Given the description of an element on the screen output the (x, y) to click on. 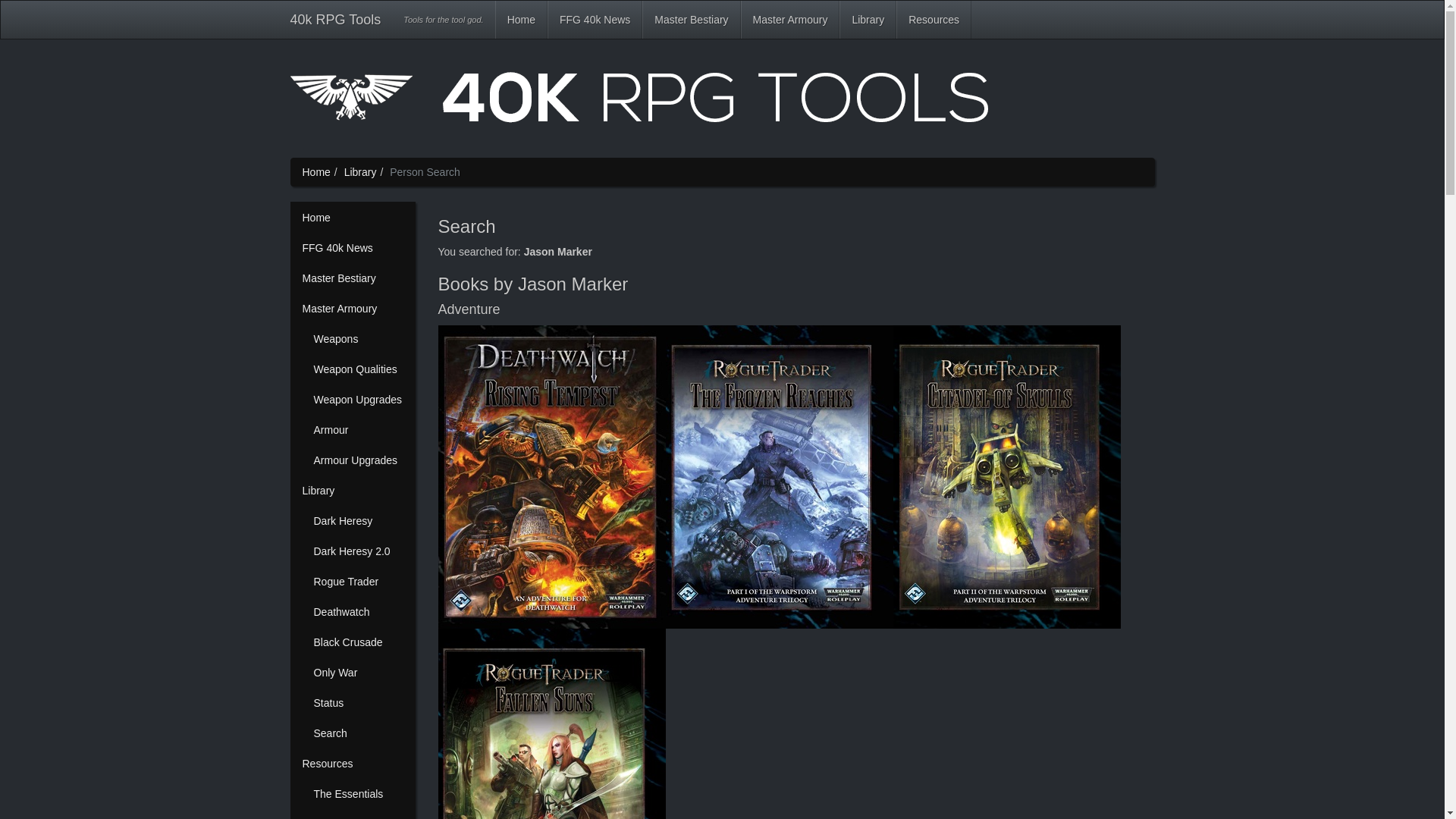
40krpgtools.com logo Element type: hover (638, 102)
Deathwatch - Rising Tempest Element type: hover (551, 476)
Status Element type: text (357, 702)
Armour Element type: text (357, 429)
Master Armoury Element type: text (790, 19)
Resources Element type: text (352, 763)
The Essentials Element type: text (357, 793)
40k RPG Tools Element type: text (335, 19)
Library Element type: text (867, 19)
Master Bestiary Element type: text (691, 19)
Weapon Qualities Element type: text (357, 369)
Master Bestiary Element type: text (352, 278)
Resources Element type: text (933, 19)
Rogue Trader - Warpstorm 1:  The Frozen Reaches Element type: hover (779, 476)
Deathwatch Element type: text (357, 611)
Rogue Trader - Warpstorm 2:  Citadel of Skulls Element type: hover (1006, 476)
Home Element type: hover (721, 102)
FFG 40k News Element type: text (352, 247)
Library Element type: text (352, 490)
Weapons Element type: text (357, 338)
Dark Heresy 2.0 Element type: text (357, 551)
Home Element type: text (521, 19)
Search Element type: text (357, 733)
Library Element type: text (360, 172)
Master Armoury Element type: text (352, 308)
Home Element type: text (315, 172)
Rogue Trader Element type: text (357, 581)
Only War Element type: text (357, 672)
FFG 40k News Element type: text (594, 19)
Weapon Upgrades Element type: text (357, 399)
Dark Heresy Element type: text (357, 520)
Black Crusade Element type: text (357, 642)
Home Element type: text (352, 217)
Armour Upgrades Element type: text (357, 460)
